Given the description of an element on the screen output the (x, y) to click on. 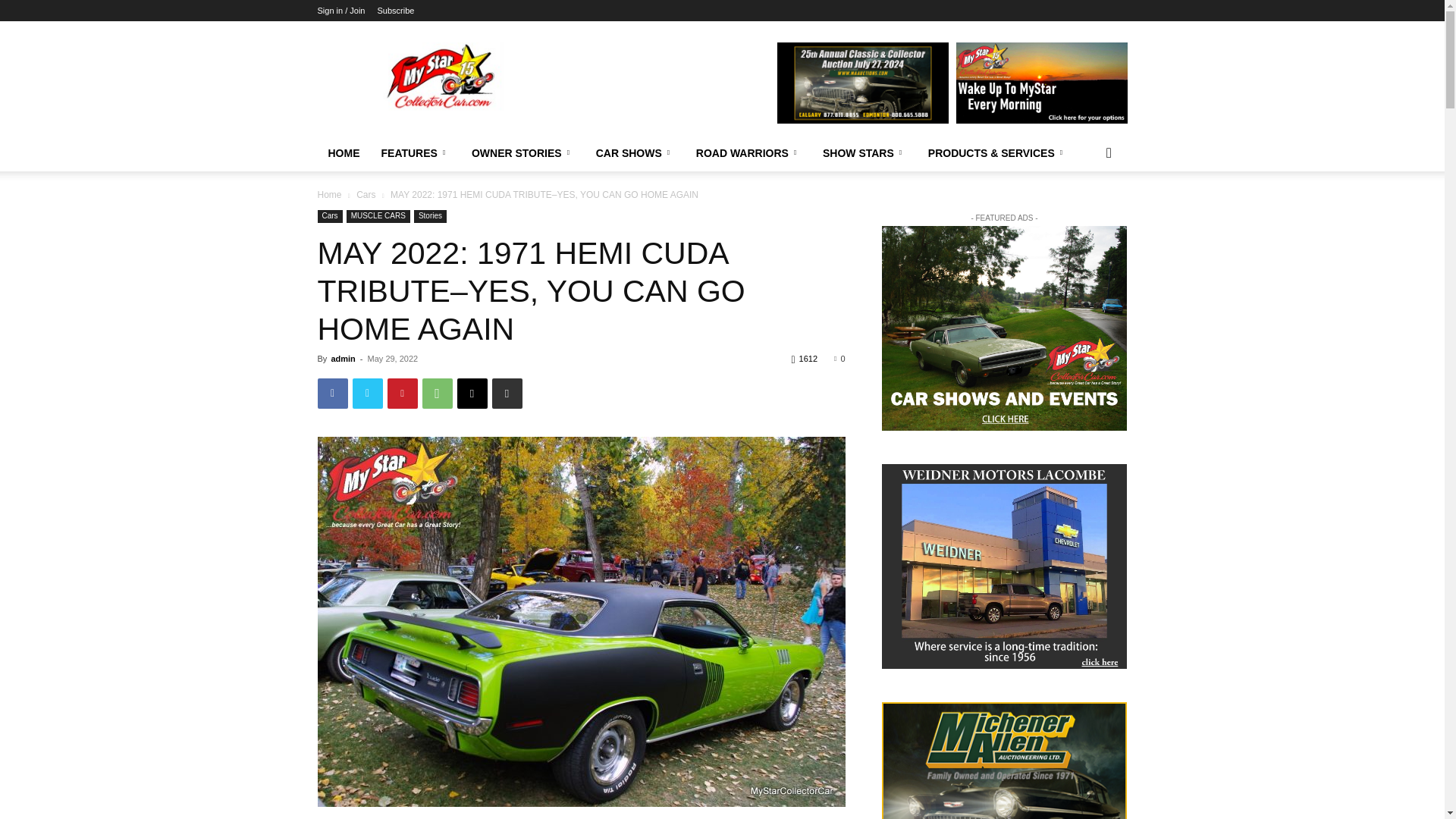
HOME (343, 153)
Subscribe (395, 10)
FEATURES (414, 153)
OWNER STORIES (523, 153)
